Given the description of an element on the screen output the (x, y) to click on. 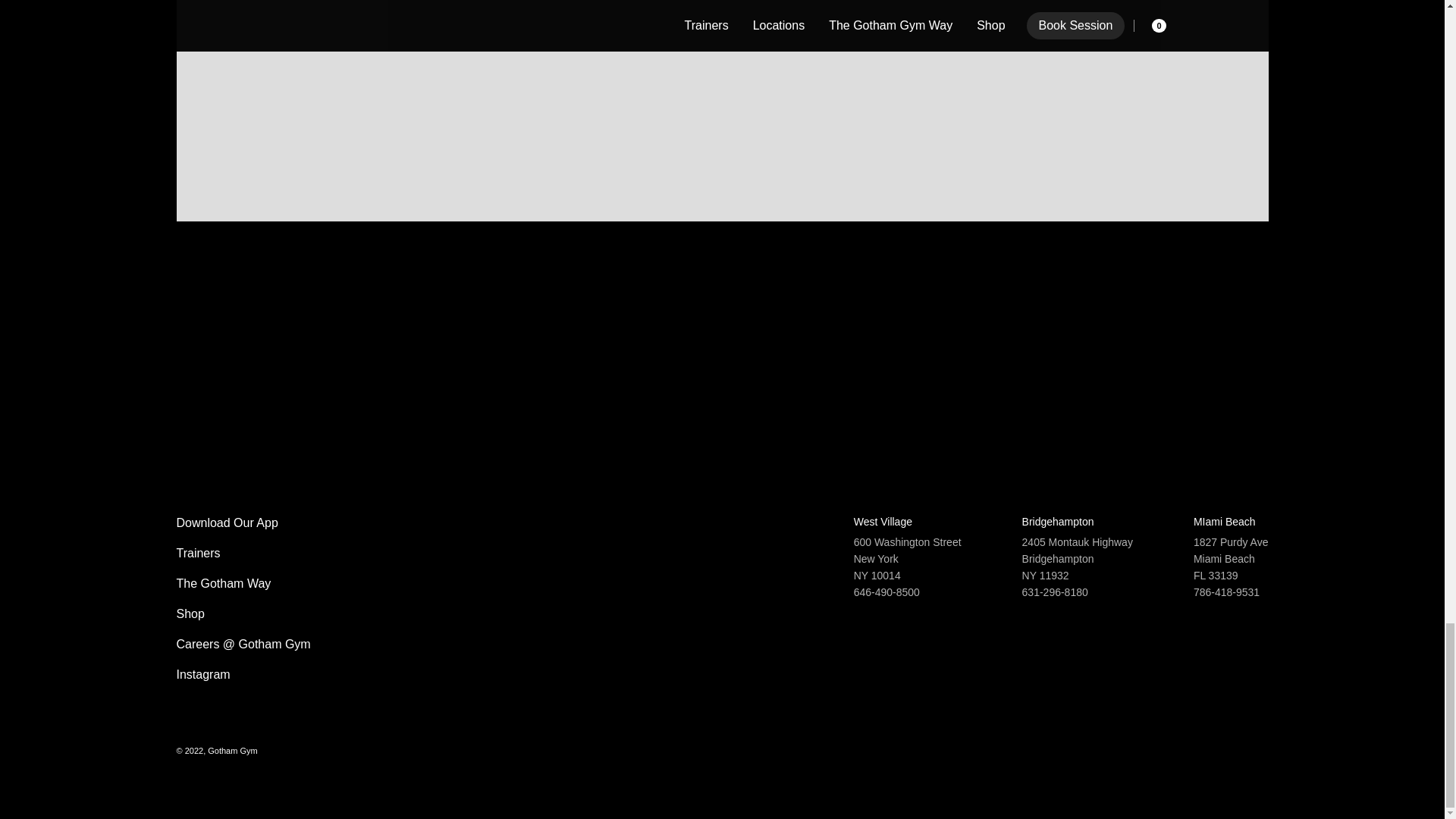
Trainers (243, 553)
The Gotham Way (243, 583)
Shop (243, 613)
Instagram (243, 674)
Download Our App (243, 522)
